Given the description of an element on the screen output the (x, y) to click on. 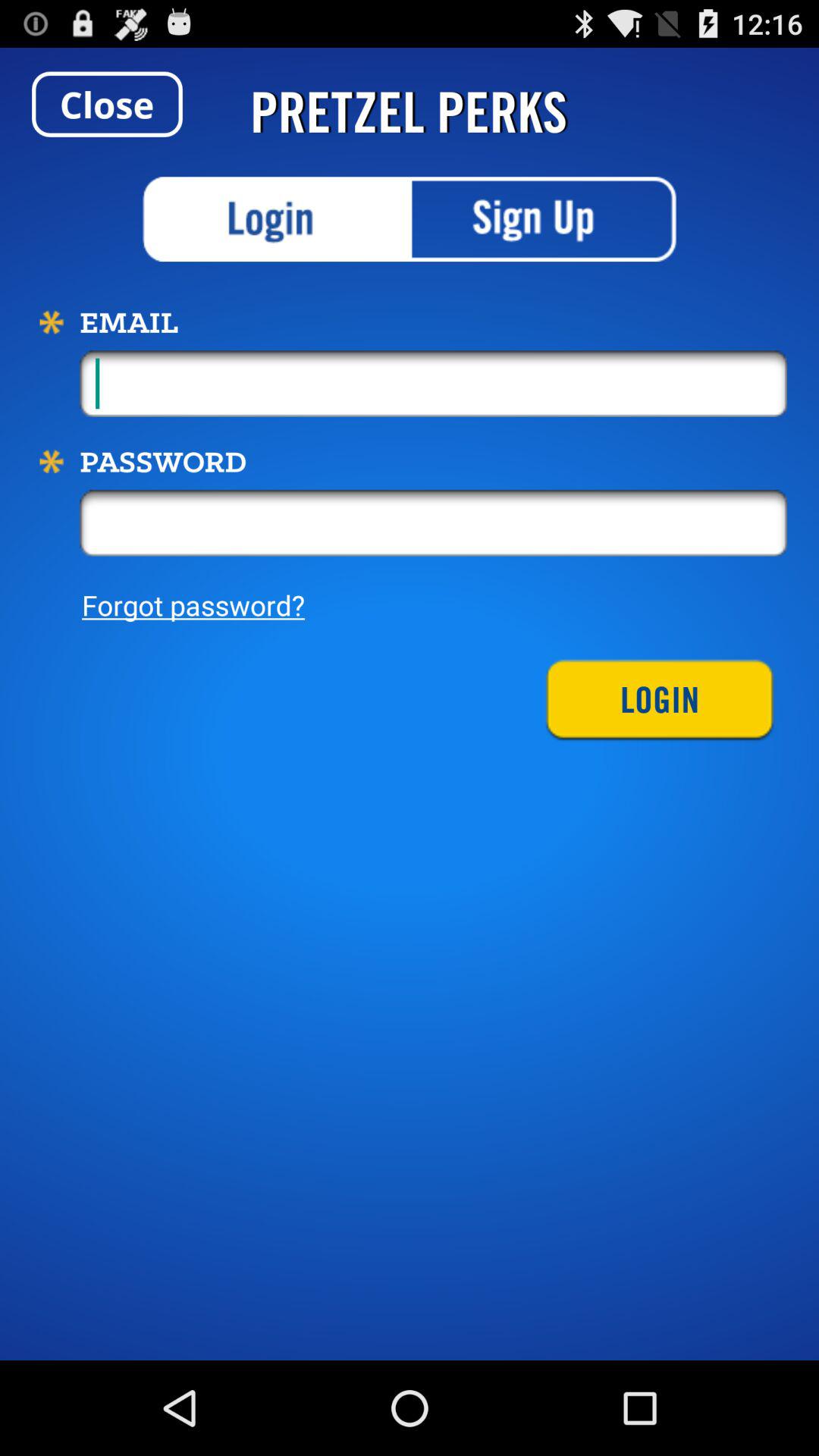
enter email address (433, 383)
